Given the description of an element on the screen output the (x, y) to click on. 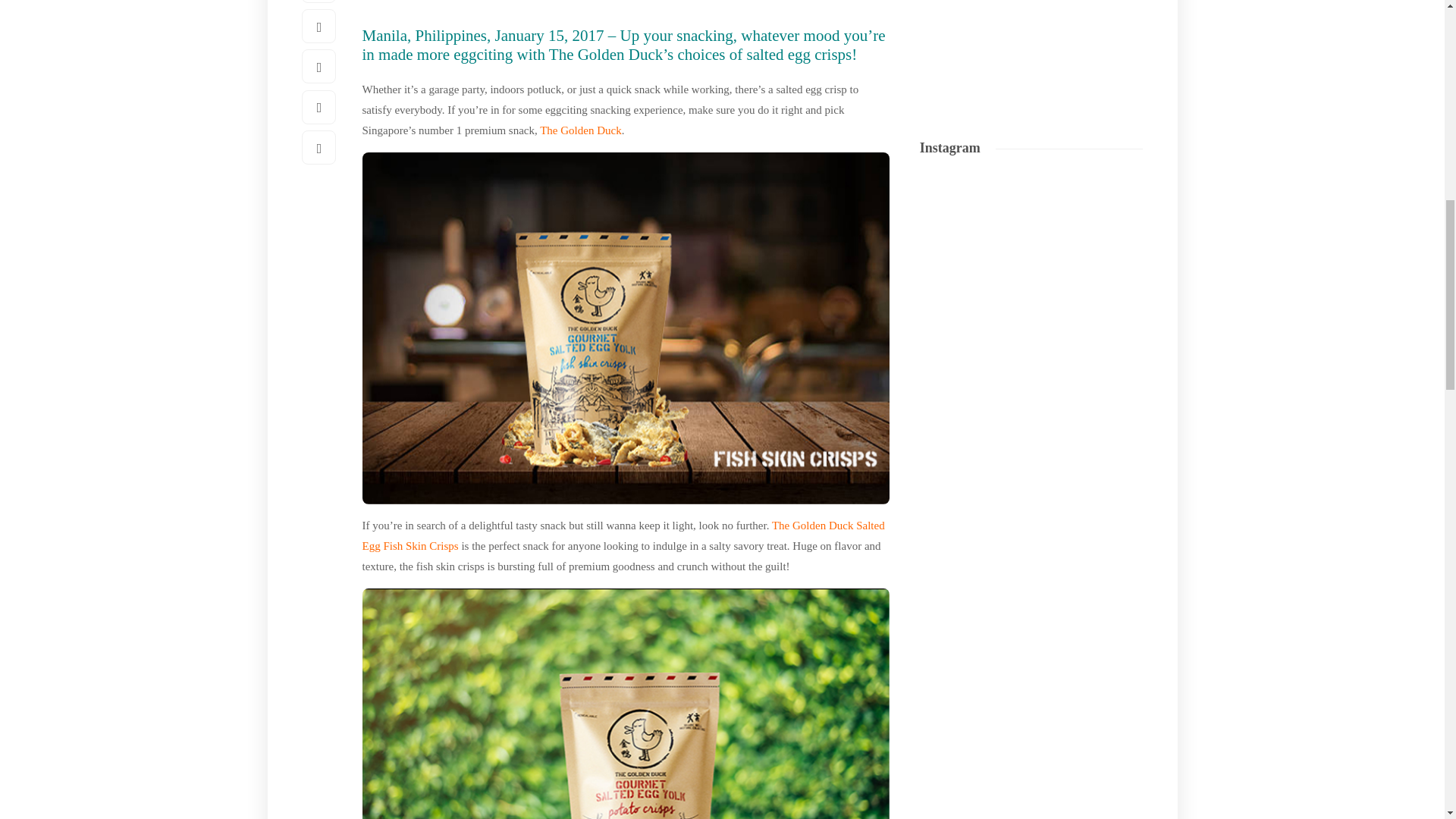
Advertisement (1033, 44)
